Given the description of an element on the screen output the (x, y) to click on. 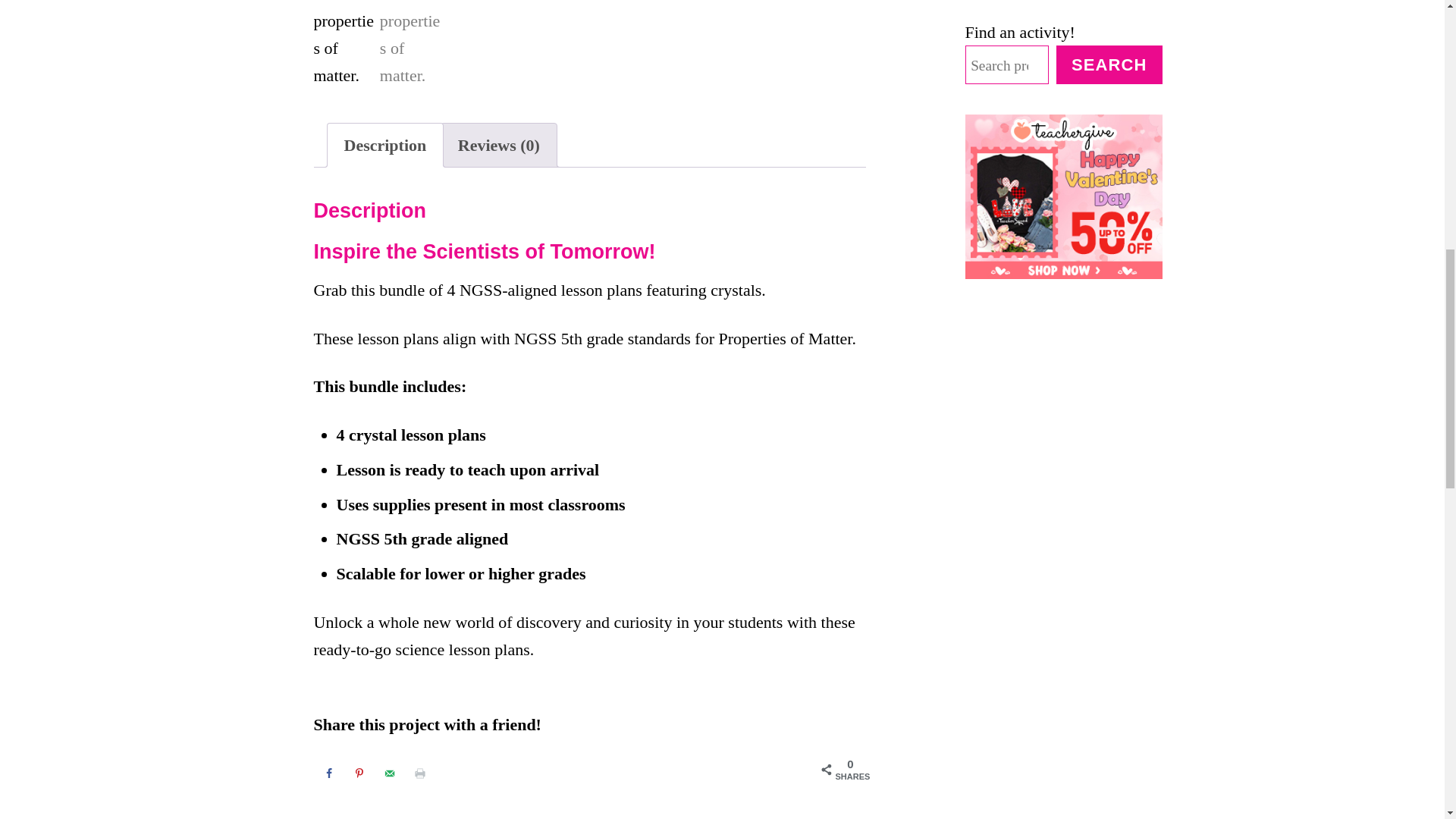
Save to Pinterest (358, 773)
Description (384, 145)
Share on Facebook (328, 773)
